Given the description of an element on the screen output the (x, y) to click on. 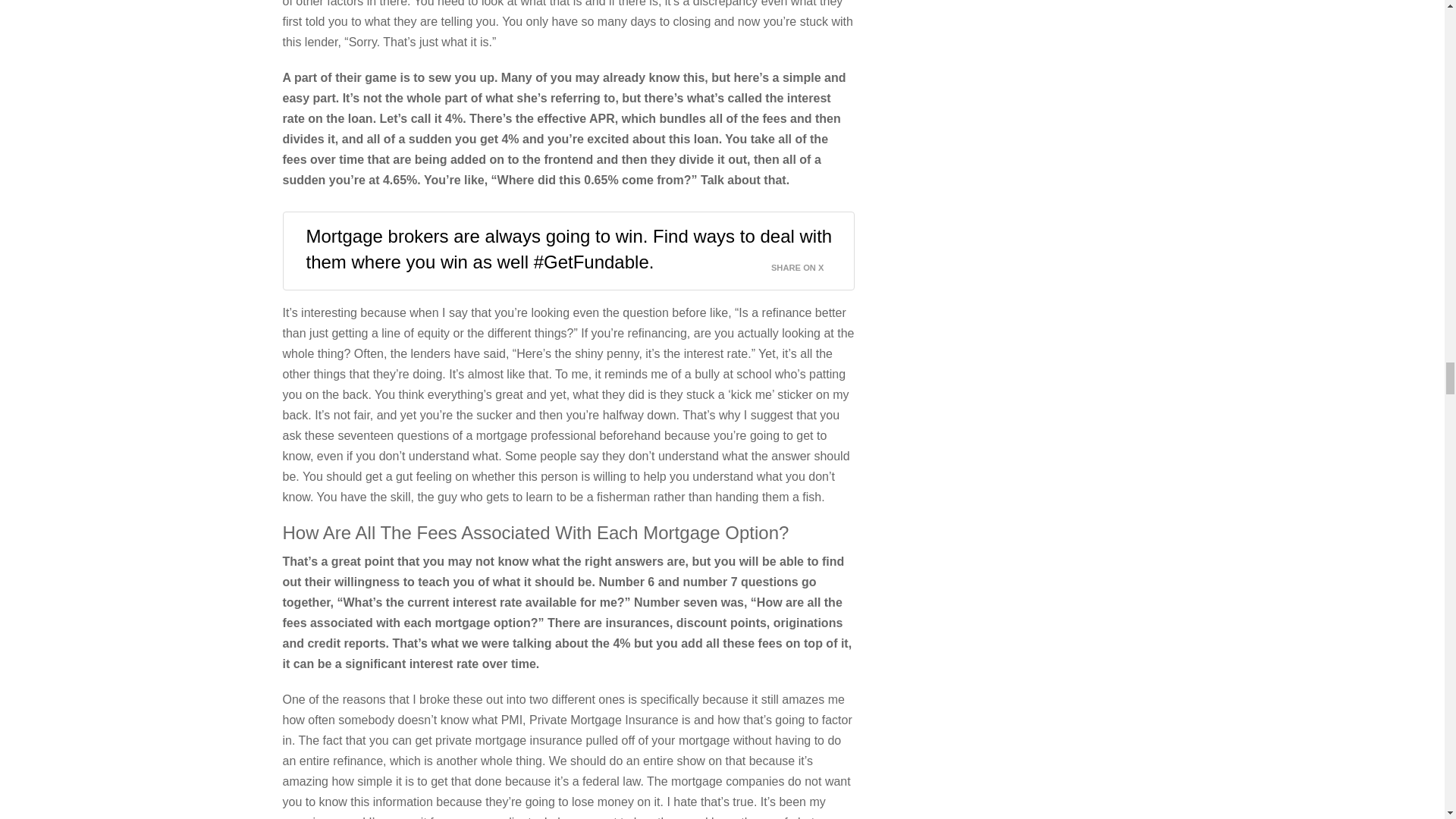
SHARE ON X (807, 263)
